Given the description of an element on the screen output the (x, y) to click on. 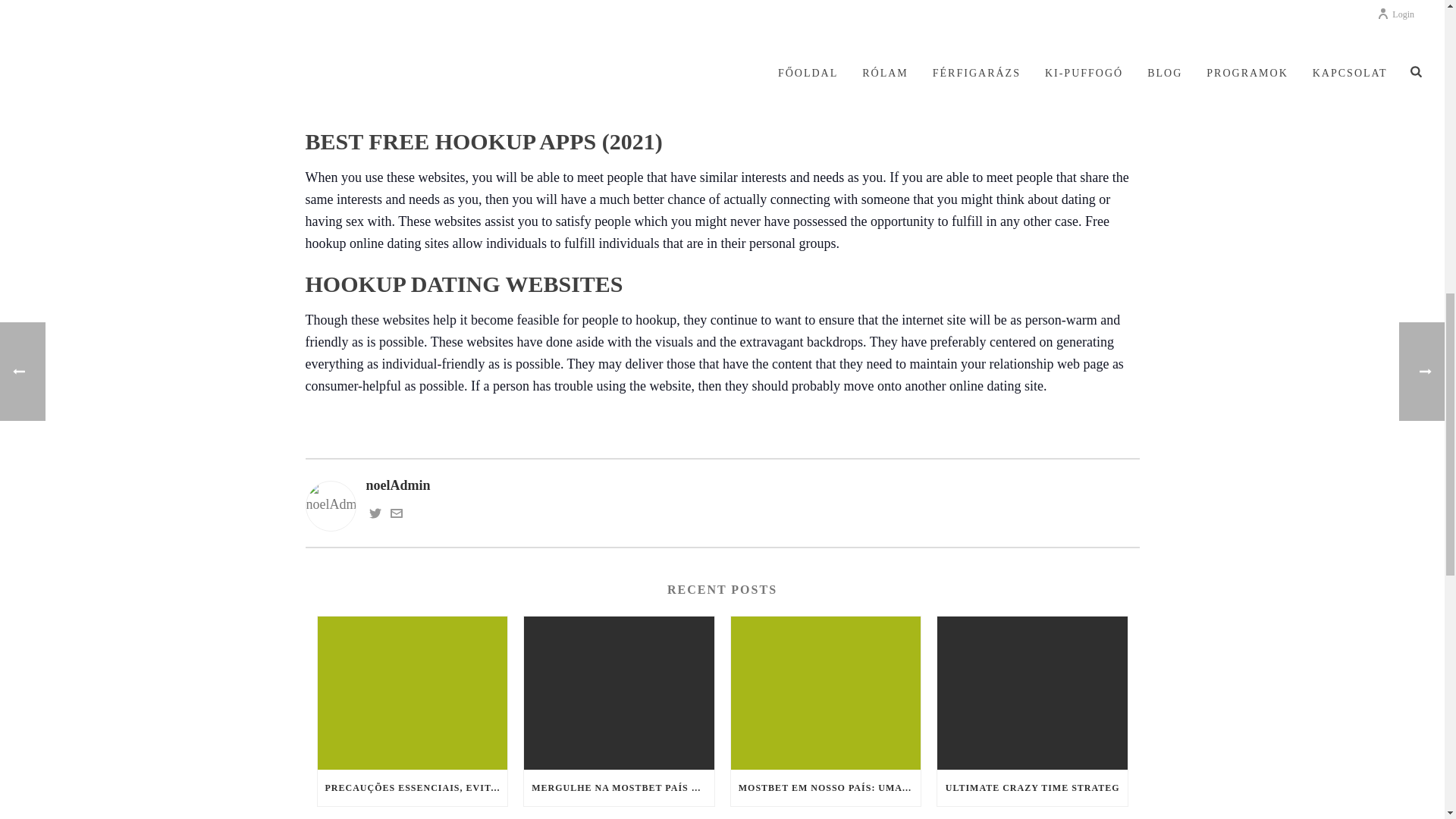
noelAdmin (721, 486)
bbw hookups (718, 34)
Ultimate Crazy Time Strateg (1031, 692)
